Given the description of an element on the screen output the (x, y) to click on. 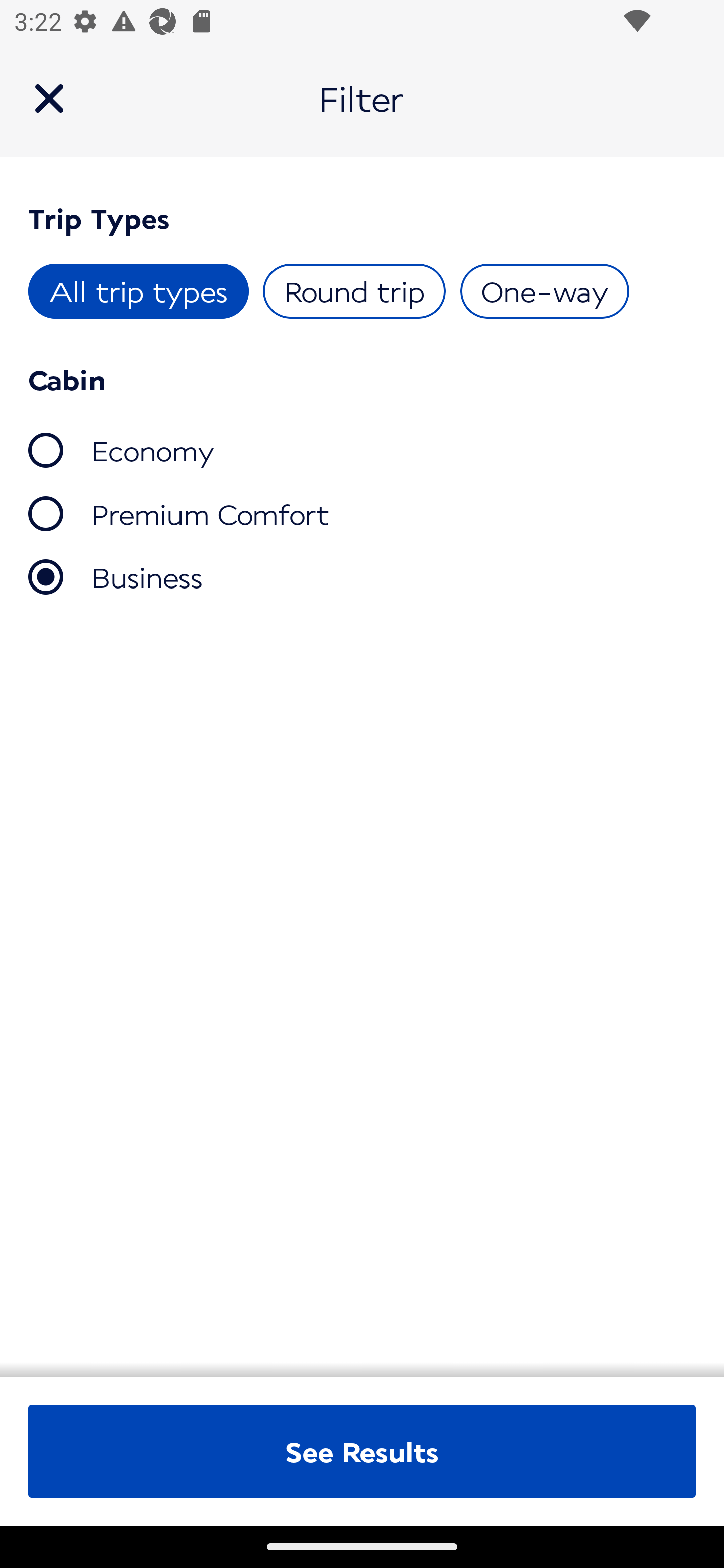
All trip types (138, 291)
Round trip (353, 291)
One-way (544, 291)
See Results (361, 1450)
